Given the description of an element on the screen output the (x, y) to click on. 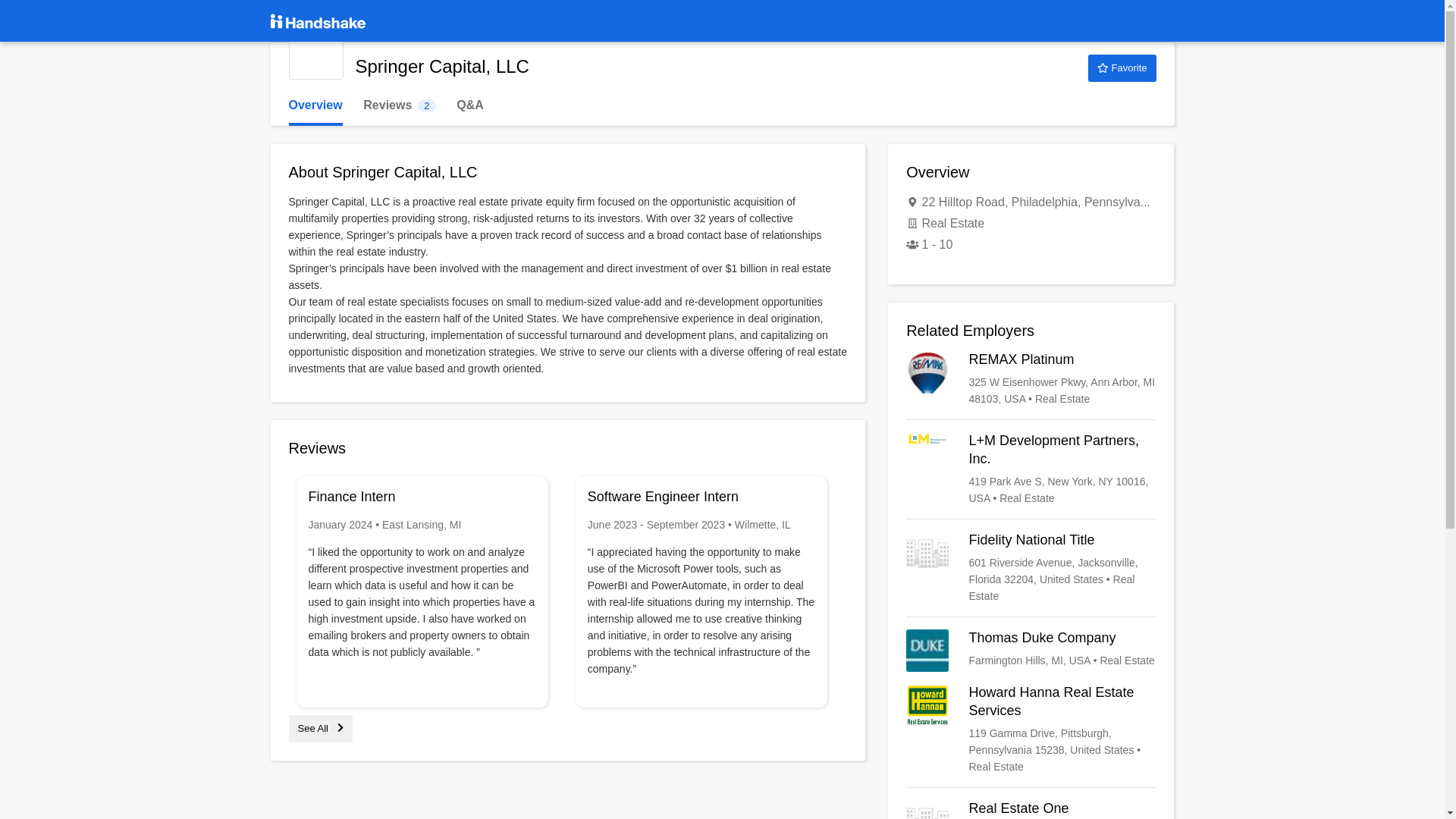
Favorite (1121, 67)
See All (320, 727)
Springer Capital, LLC (315, 52)
Real Estate One (1030, 809)
Thomas Duke Company (1030, 650)
REMAX Platinum (1030, 379)
Fidelity National Title (1030, 567)
Howard Hanna Real Estate Services (398, 105)
Overview (1030, 728)
